Given the description of an element on the screen output the (x, y) to click on. 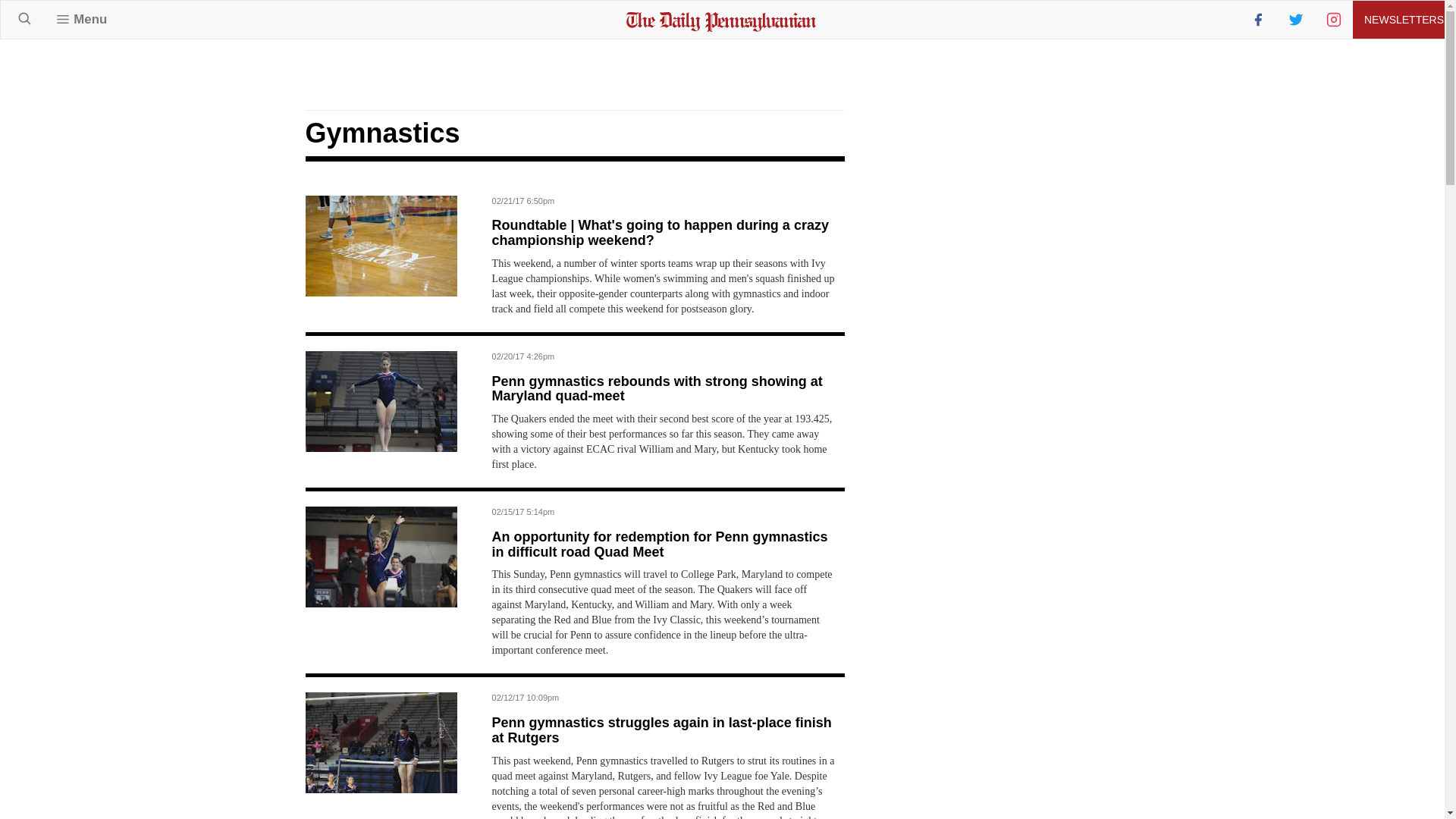
Menu (81, 18)
